Given the description of an element on the screen output the (x, y) to click on. 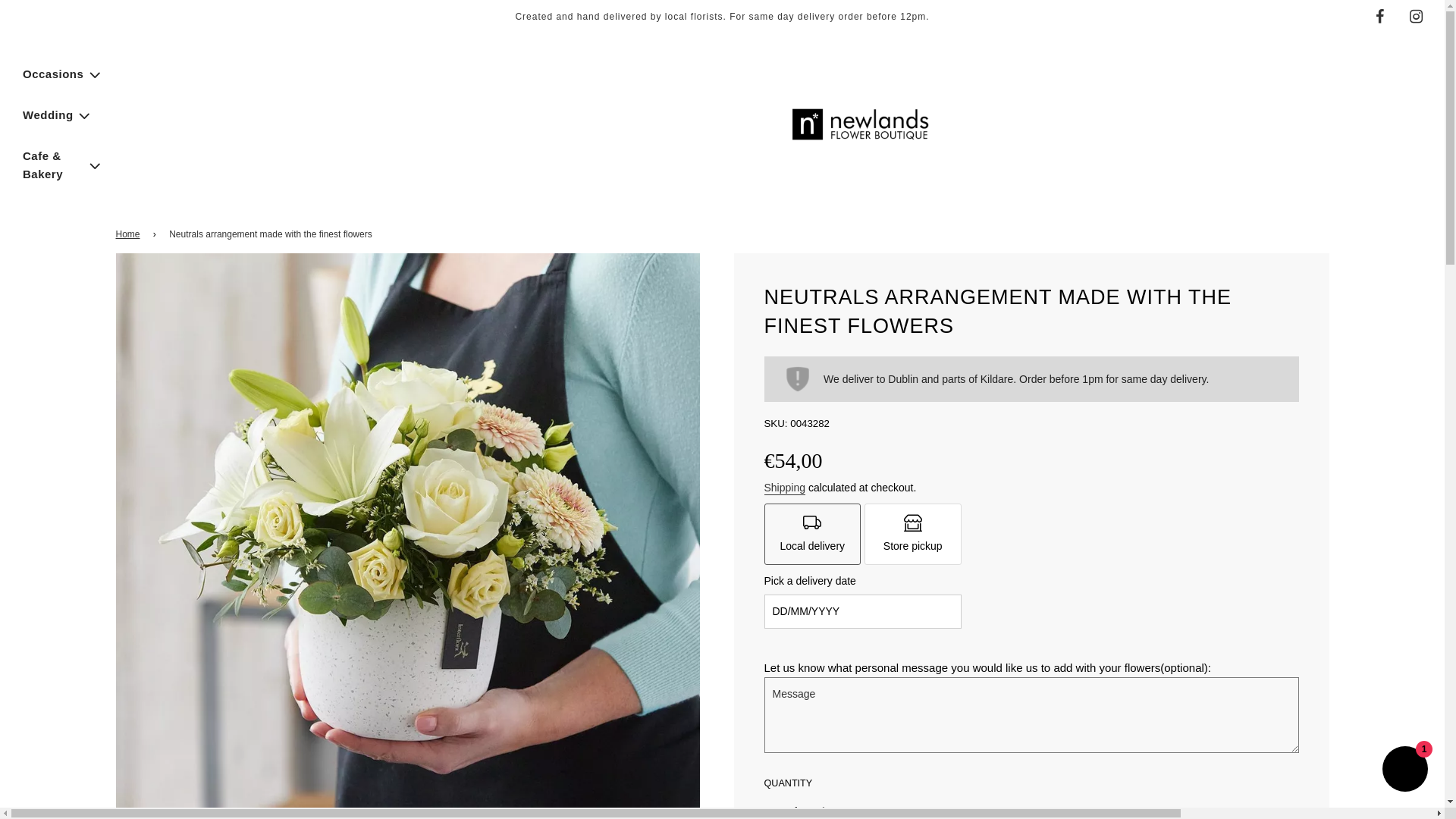
Shopify online store chat (1404, 770)
Back to the frontpage (129, 234)
1 (796, 808)
